Given the description of an element on the screen output the (x, y) to click on. 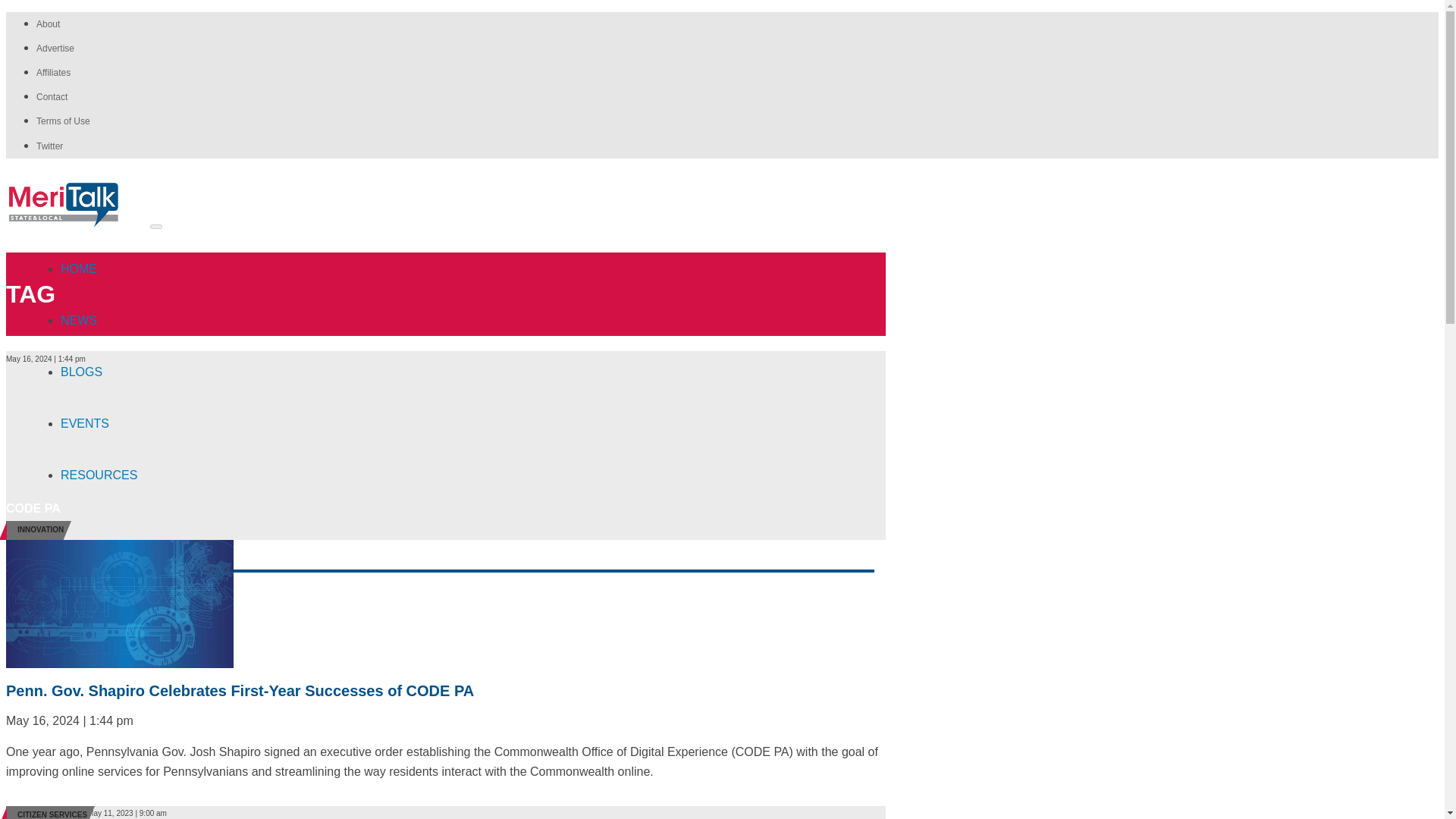
About (47, 23)
Affiliates (52, 72)
Contact (51, 96)
Twitter (49, 145)
News (98, 321)
HOME (98, 270)
INNOVATION (40, 529)
Advertise (55, 48)
Home (98, 270)
Resources (98, 476)
Events (98, 424)
TAG (30, 293)
CODE PA (33, 508)
